Given the description of an element on the screen output the (x, y) to click on. 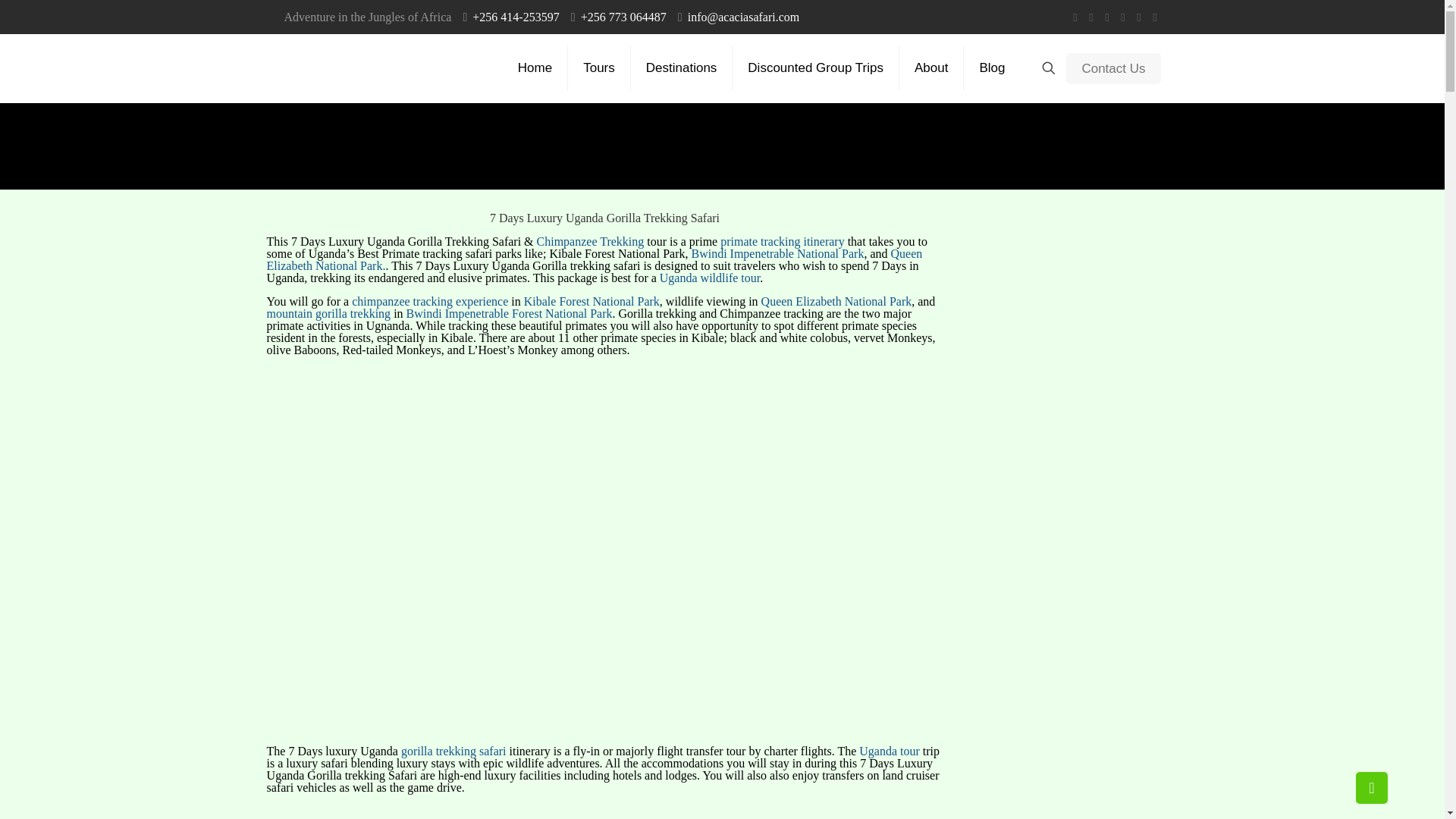
Acacia Safaris Uganda (324, 68)
Facebook (1091, 17)
WhatsApp (1074, 17)
Instagram (1138, 17)
LinkedIn (1123, 17)
Home (534, 68)
Tripadvisor (1155, 17)
Tours (598, 68)
